Given the description of an element on the screen output the (x, y) to click on. 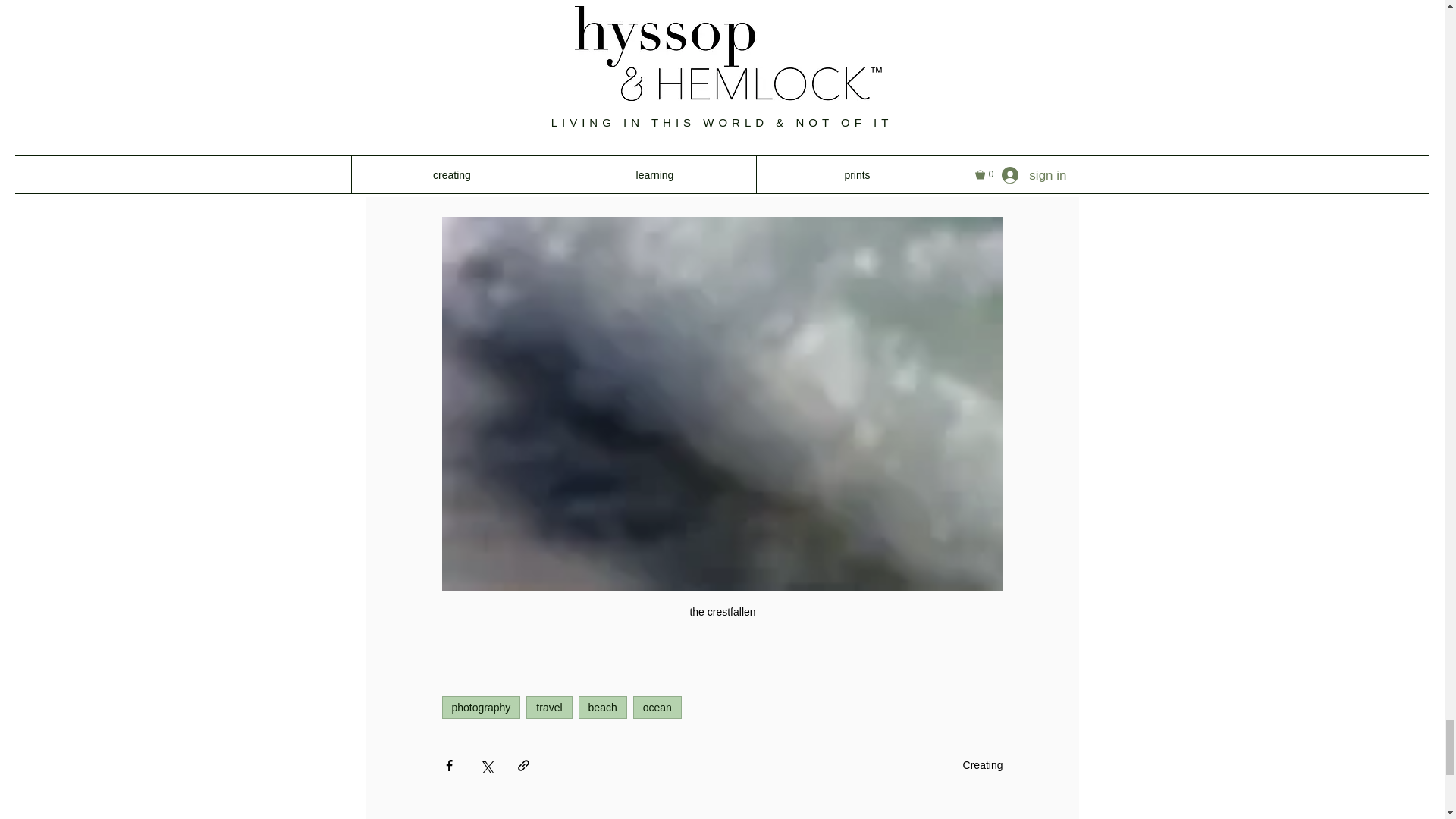
travel (548, 707)
beach (602, 707)
photography (480, 707)
ocean (657, 707)
Creating (982, 765)
